Given the description of an element on the screen output the (x, y) to click on. 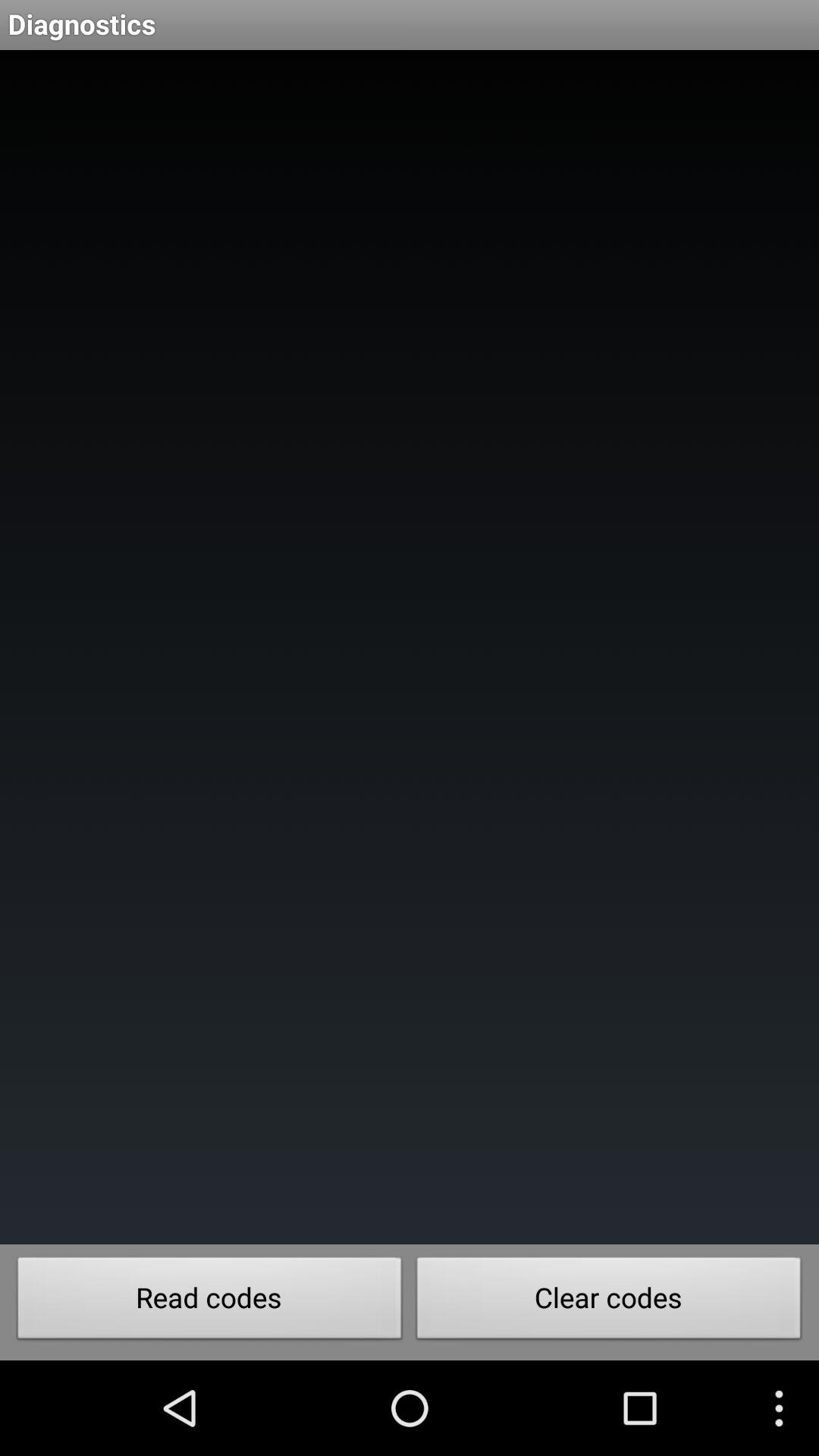
launch item above the read codes item (409, 647)
